Given the description of an element on the screen output the (x, y) to click on. 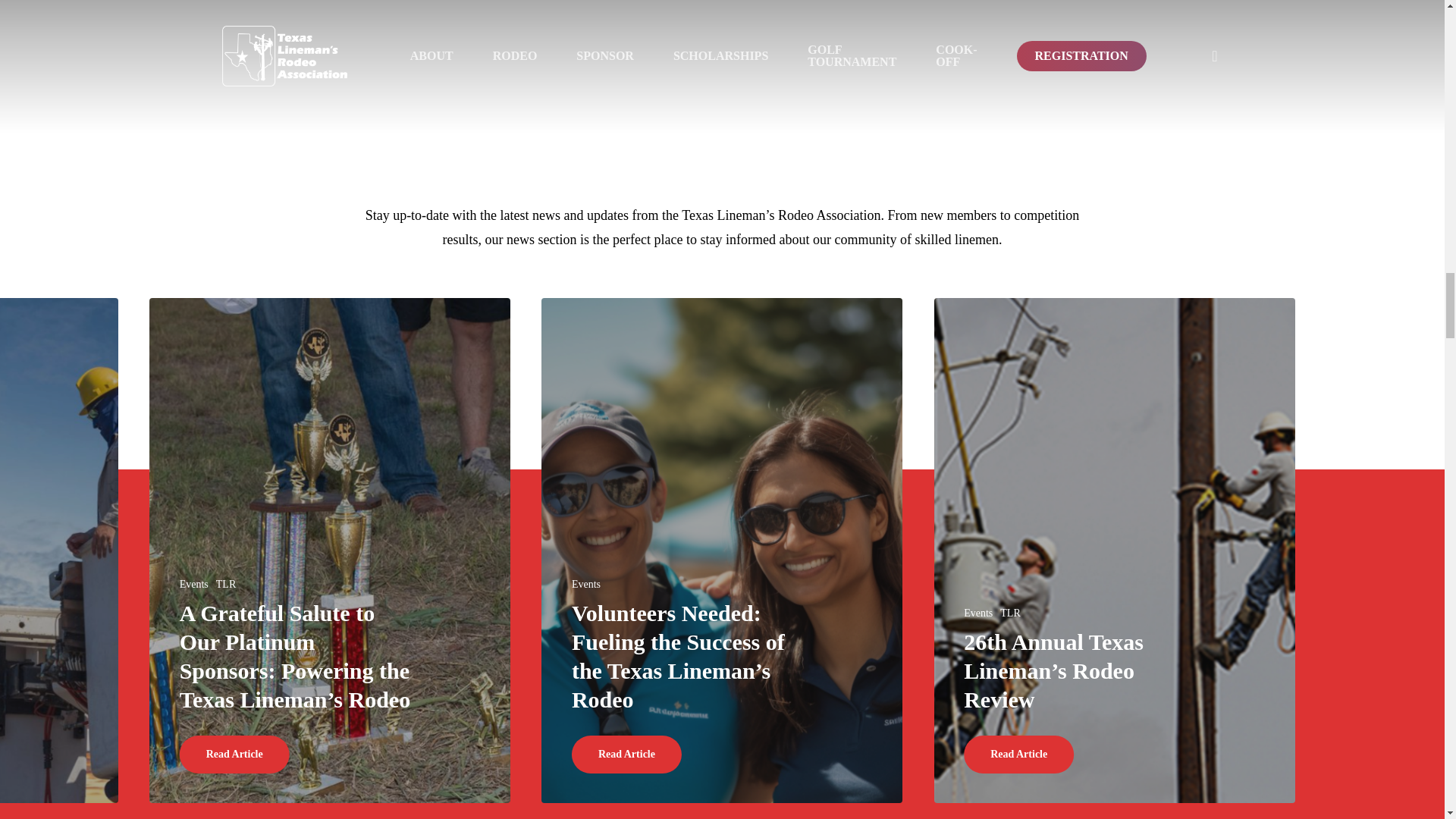
Read Article (626, 754)
TLR (225, 584)
Read Article (234, 754)
Events (585, 584)
Events (977, 612)
TLR (1010, 612)
Events (193, 584)
Read Article (1018, 754)
